Given the description of an element on the screen output the (x, y) to click on. 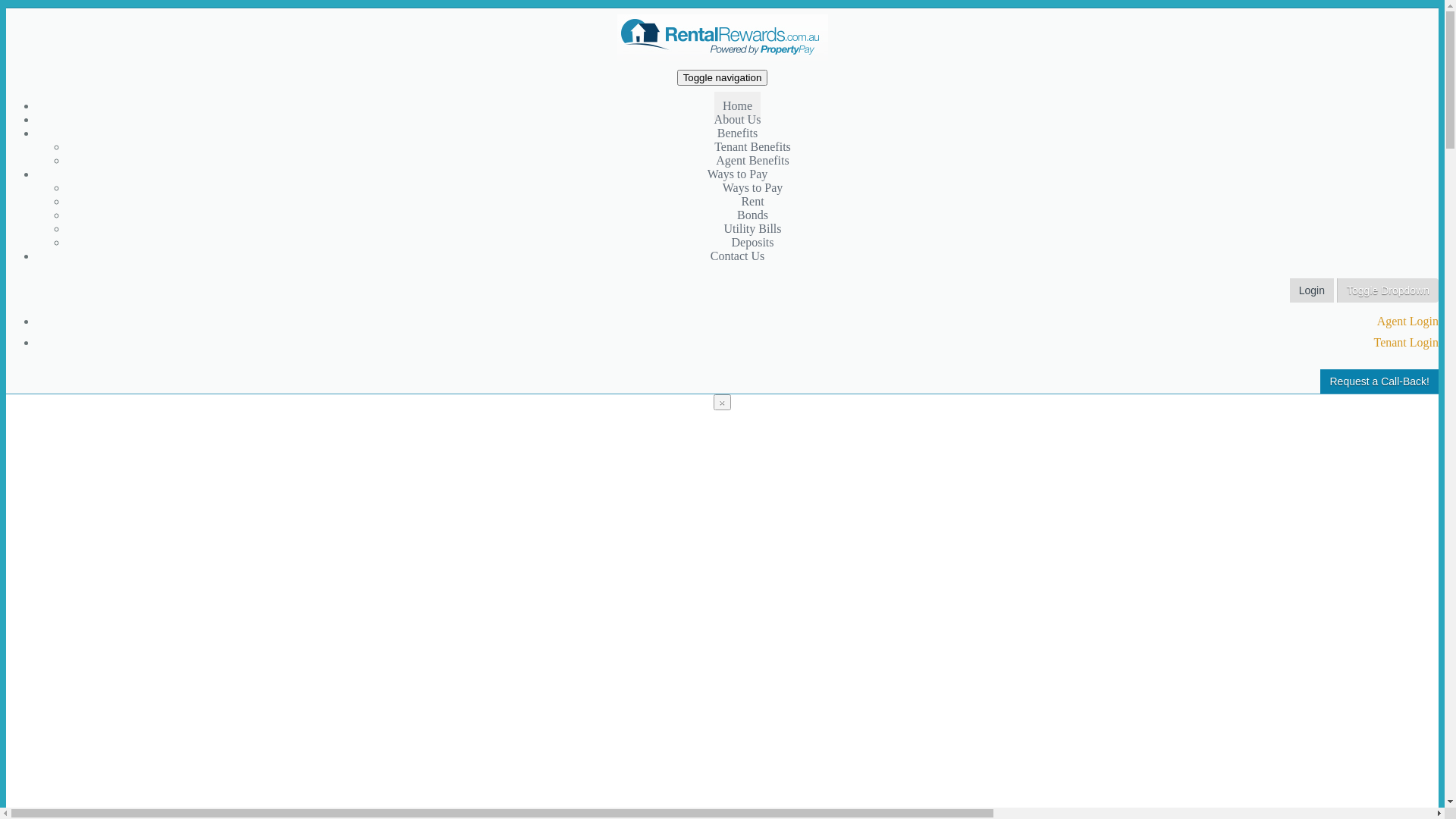
Toggle navigation Element type: text (722, 77)
Contact Us Element type: text (737, 255)
Tenant Benefits Element type: text (752, 146)
Bonds Element type: text (752, 214)
Home Element type: text (737, 105)
Agent Benefits Element type: text (751, 159)
Ways to Pay Element type: text (752, 187)
Benefits Element type: text (737, 133)
Deposits Element type: text (752, 241)
Rent Element type: text (751, 200)
Tenant Login Element type: text (1405, 341)
Ways to Pay Element type: text (737, 174)
About Us Element type: text (737, 119)
Utility Bills Element type: text (752, 228)
Agent Login Element type: text (1407, 320)
Login Element type: text (1311, 290)
Toggle Dropdown Element type: text (1387, 290)
Request a Call-Back! Element type: text (1379, 381)
